Given the description of an element on the screen output the (x, y) to click on. 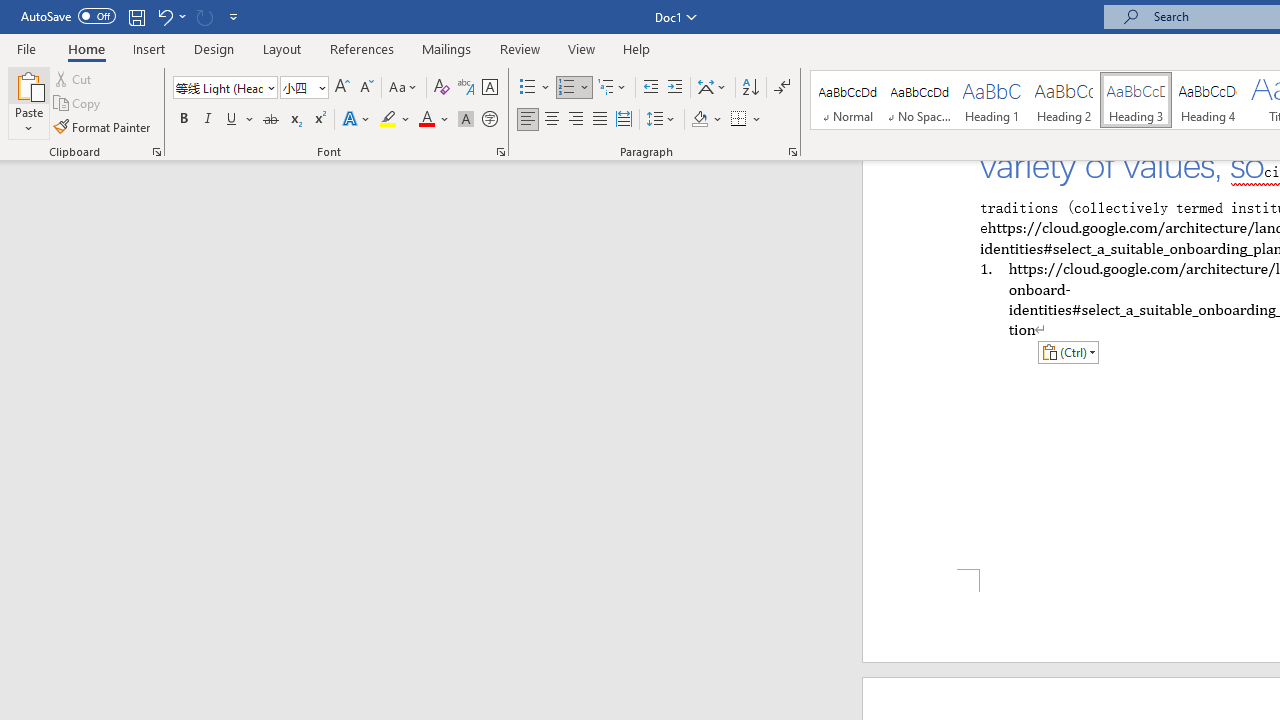
Character Border (489, 87)
Clear Formatting (442, 87)
Undo Paste (170, 15)
Text Highlight Color (395, 119)
Change Case (404, 87)
Heading 1 (991, 100)
Heading 2 (1063, 100)
Enclose Characters... (489, 119)
